Given the description of an element on the screen output the (x, y) to click on. 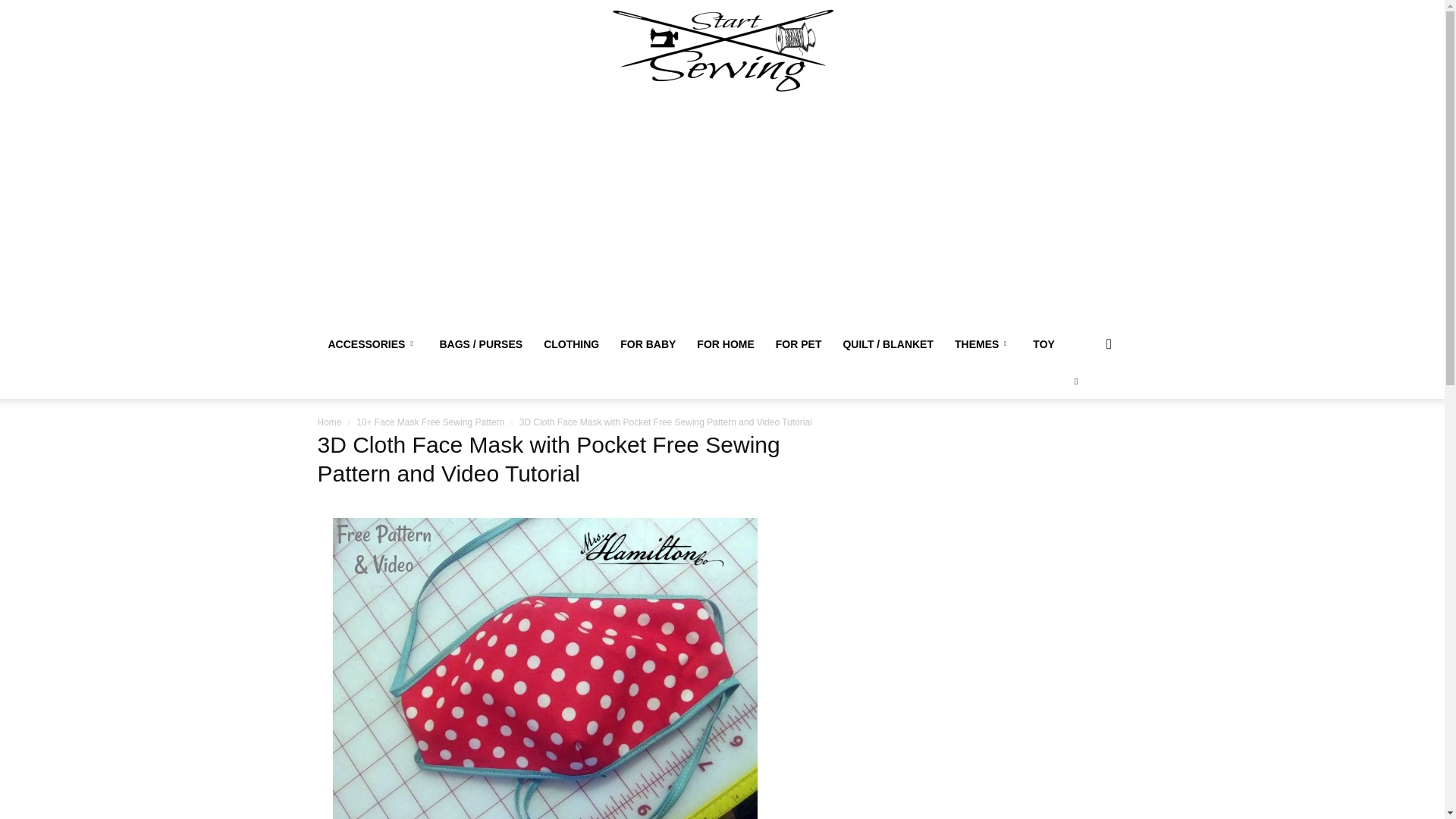
Start Sewing (721, 50)
FOR BABY (647, 343)
CLOTHING (571, 343)
FOR PET (798, 343)
THEMES (982, 343)
ACCESSORIES (372, 343)
FOR HOME (724, 343)
